Given the description of an element on the screen output the (x, y) to click on. 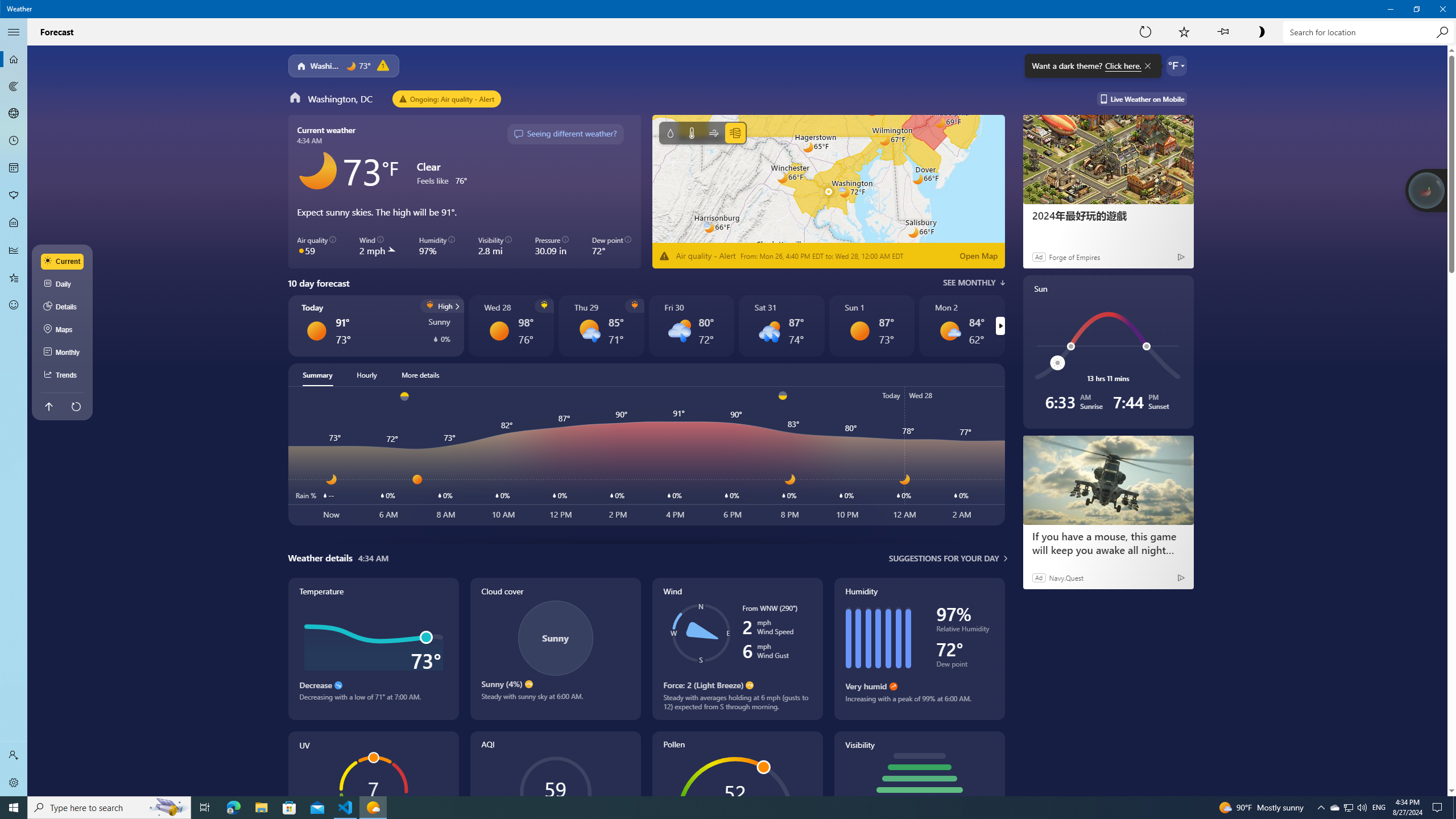
Historical Weather - Not Selected (13, 249)
Sign in (13, 755)
Pollen - Not Selected (13, 195)
Monthly Forecast - Not Selected (13, 167)
Favorites - Not Selected (13, 277)
Life - Not Selected (13, 222)
Running applications (706, 807)
